Given the description of an element on the screen output the (x, y) to click on. 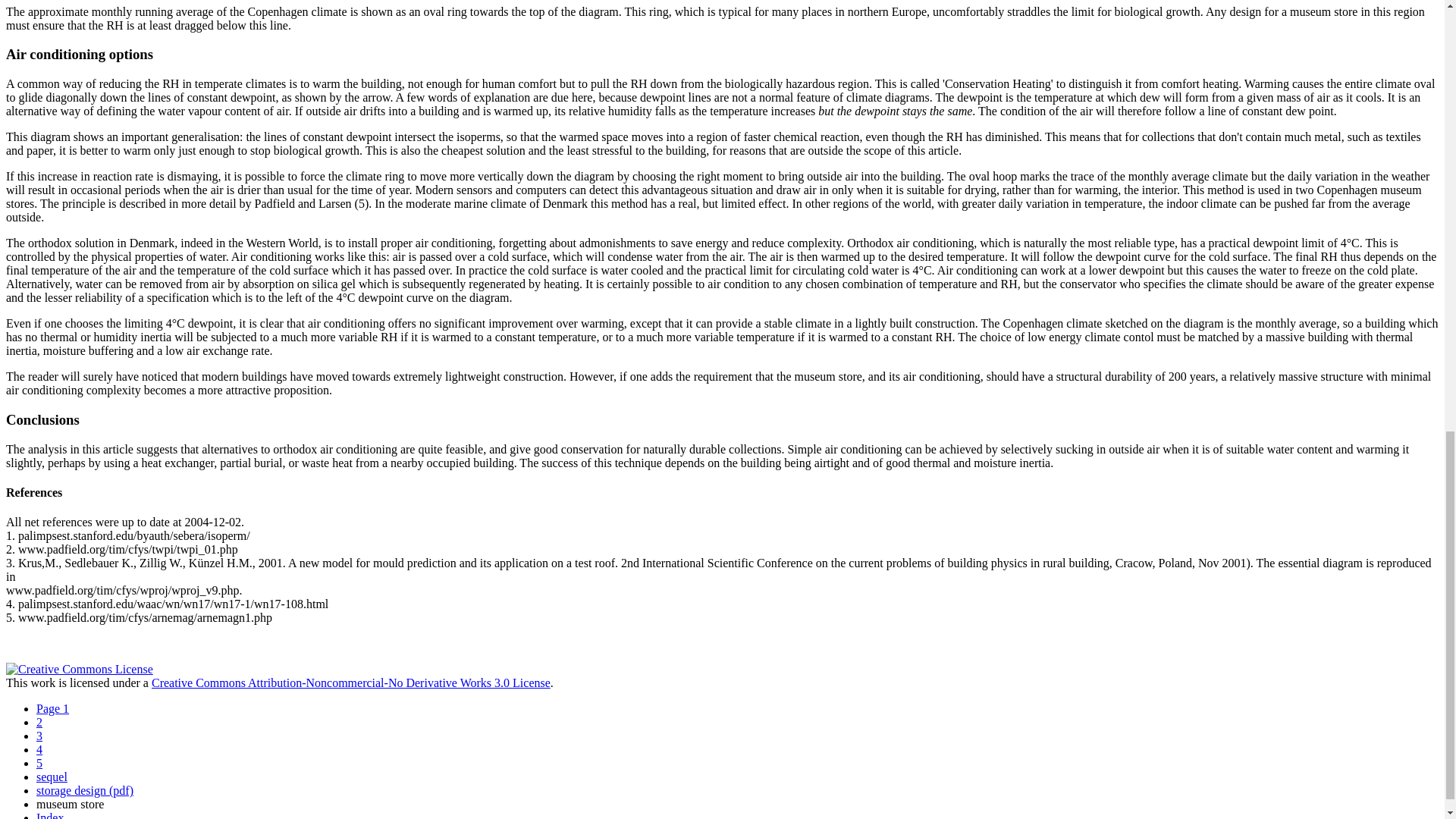
sequel (51, 776)
Page 1 (52, 707)
